Given the description of an element on the screen output the (x, y) to click on. 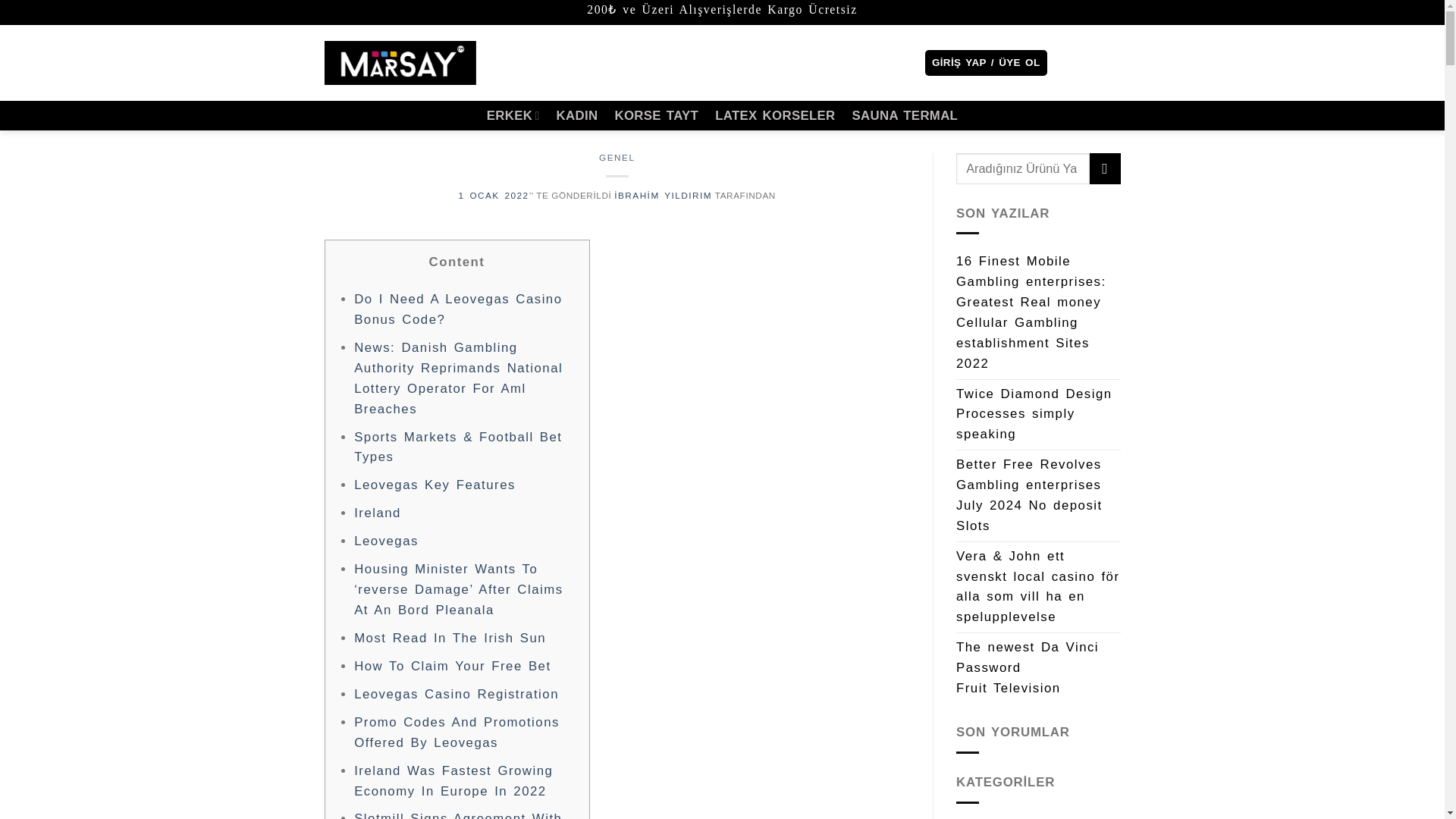
Ireland (377, 513)
KADIN (577, 115)
Leovegas Key Features (434, 484)
How To Claim Your Free Bet (452, 666)
Ara (873, 62)
Do I Need A Leovegas Casino Bonus Code? (457, 308)
SAUNA TERMAL (904, 115)
GENEL (616, 157)
Leovegas Casino Registration (456, 694)
ERKEK (513, 115)
